Given the description of an element on the screen output the (x, y) to click on. 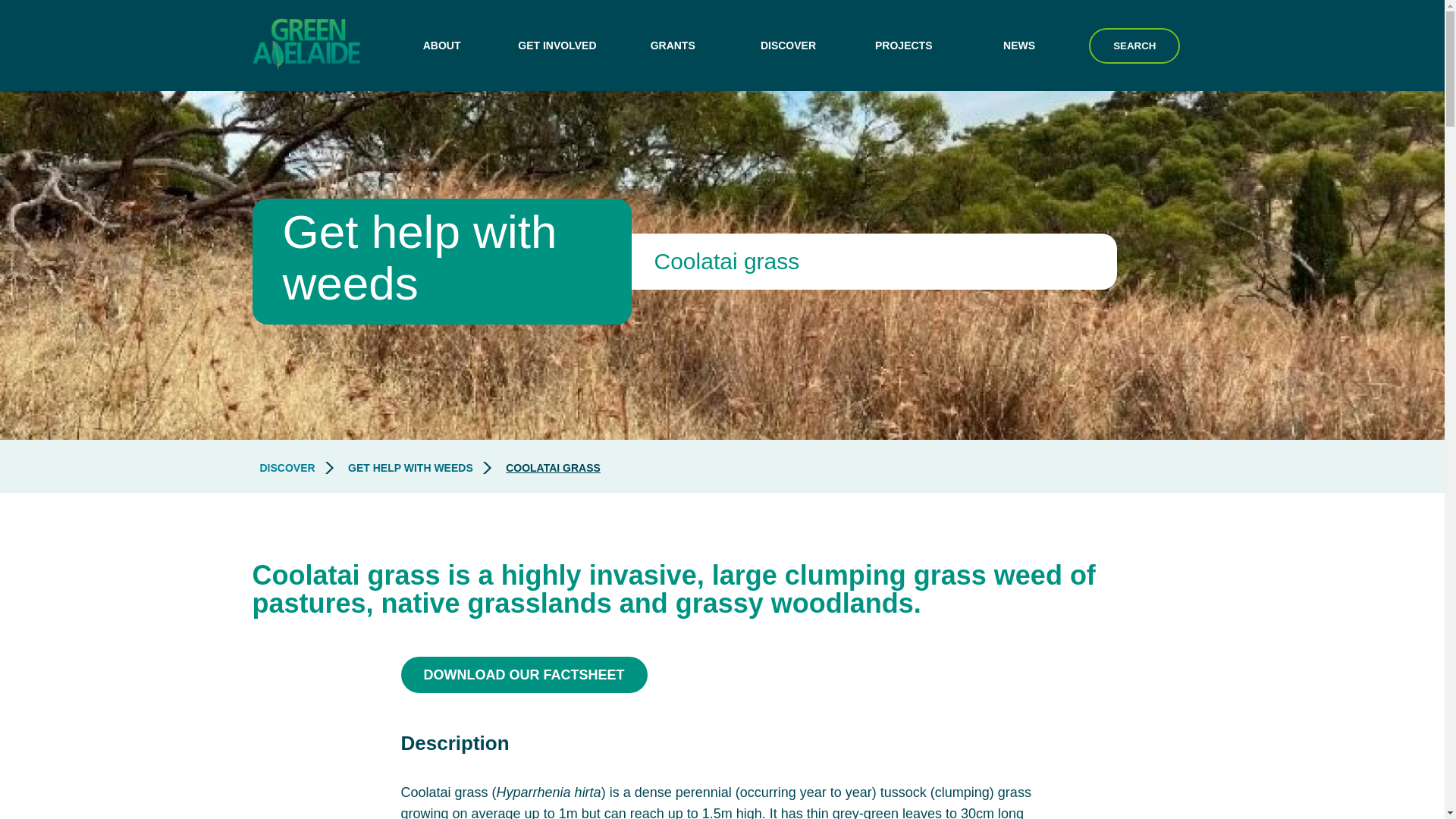
NEWS (1018, 45)
GET INVOLVED (556, 45)
ABOUT (441, 45)
PROJECTS (902, 45)
GRANTS (672, 45)
DISCOVER (787, 45)
SEARCH (1134, 45)
